Given the description of an element on the screen output the (x, y) to click on. 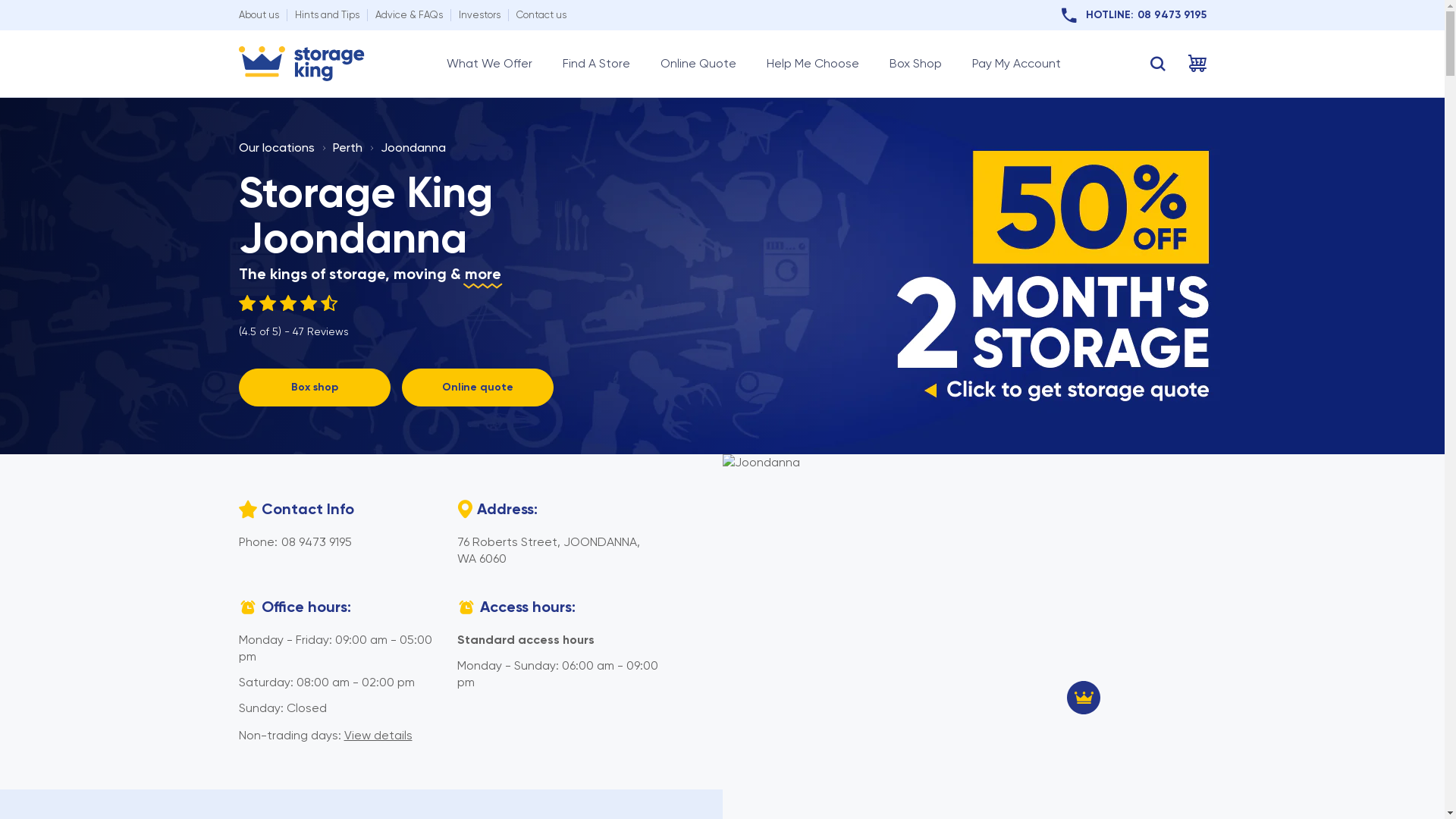
Hints and Tips Element type: text (326, 15)
08 9473 9195 Element type: text (315, 541)
Investors Element type: text (478, 15)
Pay My Account Element type: text (1016, 63)
Contact us Element type: text (540, 15)
Find A Store Element type: text (596, 63)
Online quote Element type: text (477, 387)
Box shop Element type: text (313, 387)
Our locations Element type: text (275, 147)
View details Element type: text (378, 735)
Help Me Choose Element type: text (811, 63)
Box Shop Element type: text (914, 63)
76 Roberts Street, JOONDANNA, WA 6060 Element type: text (547, 549)
Perth Element type: text (346, 147)
Online Quote Element type: text (697, 63)
HOTLINE:
08 9473 9195 Element type: text (1133, 14)
About us Element type: text (258, 15)
What We Offer Element type: text (488, 63)
Advice & FAQs Element type: text (408, 15)
4.50 Element type: hover (293, 303)
Joondanna Element type: text (412, 147)
(4.5 of 5) - 47 Reviews Element type: text (293, 316)
